Given the description of an element on the screen output the (x, y) to click on. 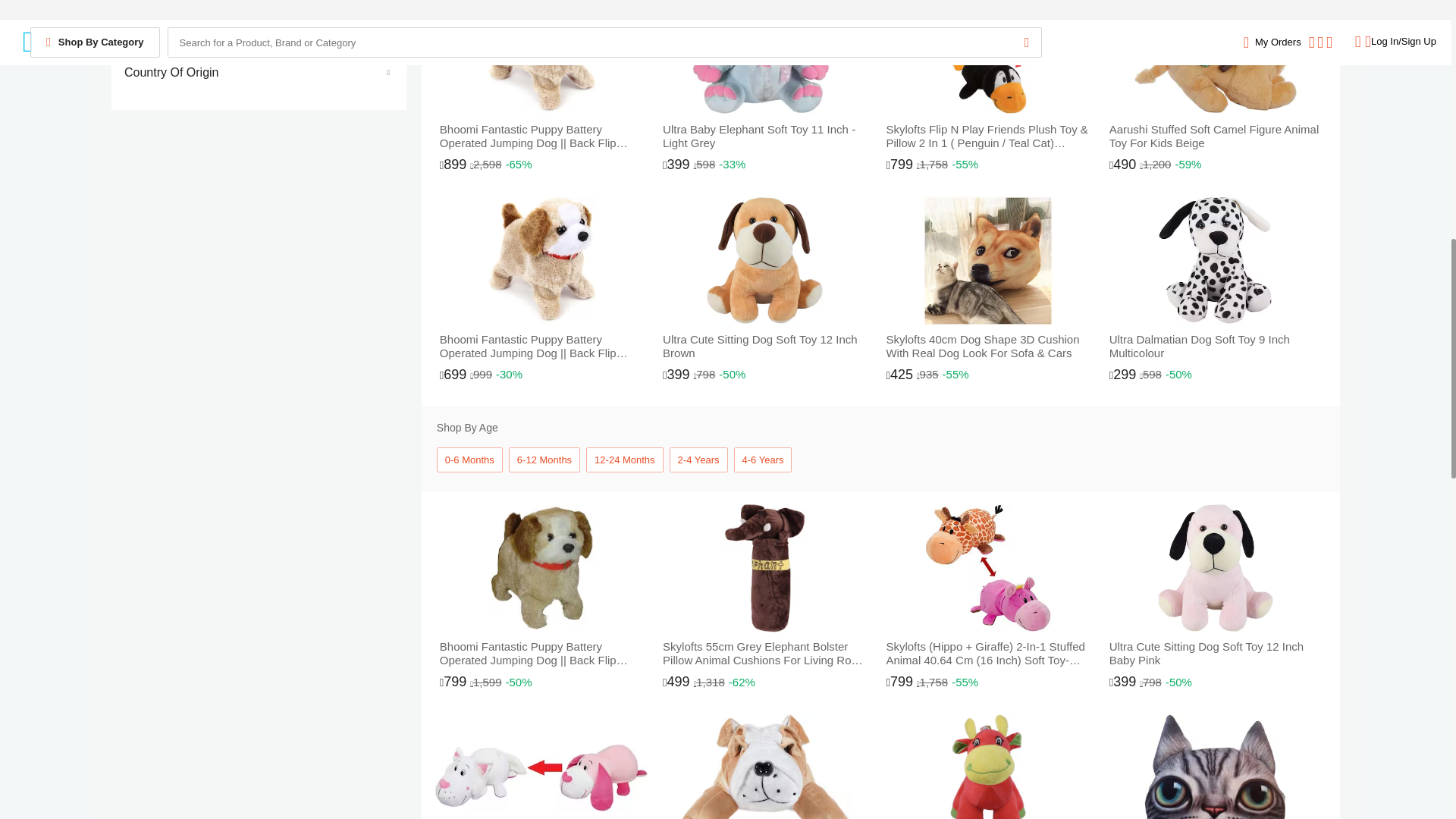
Aarushi Stuffed Soft Camel figure Animal Toy for Kids Beige (1214, 91)
Ultra Dalmatian Dog Soft Toy 9 inch Multicolour (1214, 293)
Ultra Cute Sitting Dog Soft Toy 12 inch Brown (765, 293)
Ultra Baby Elephant Soft Toy 11 inch - Light Grey (765, 91)
